Given the description of an element on the screen output the (x, y) to click on. 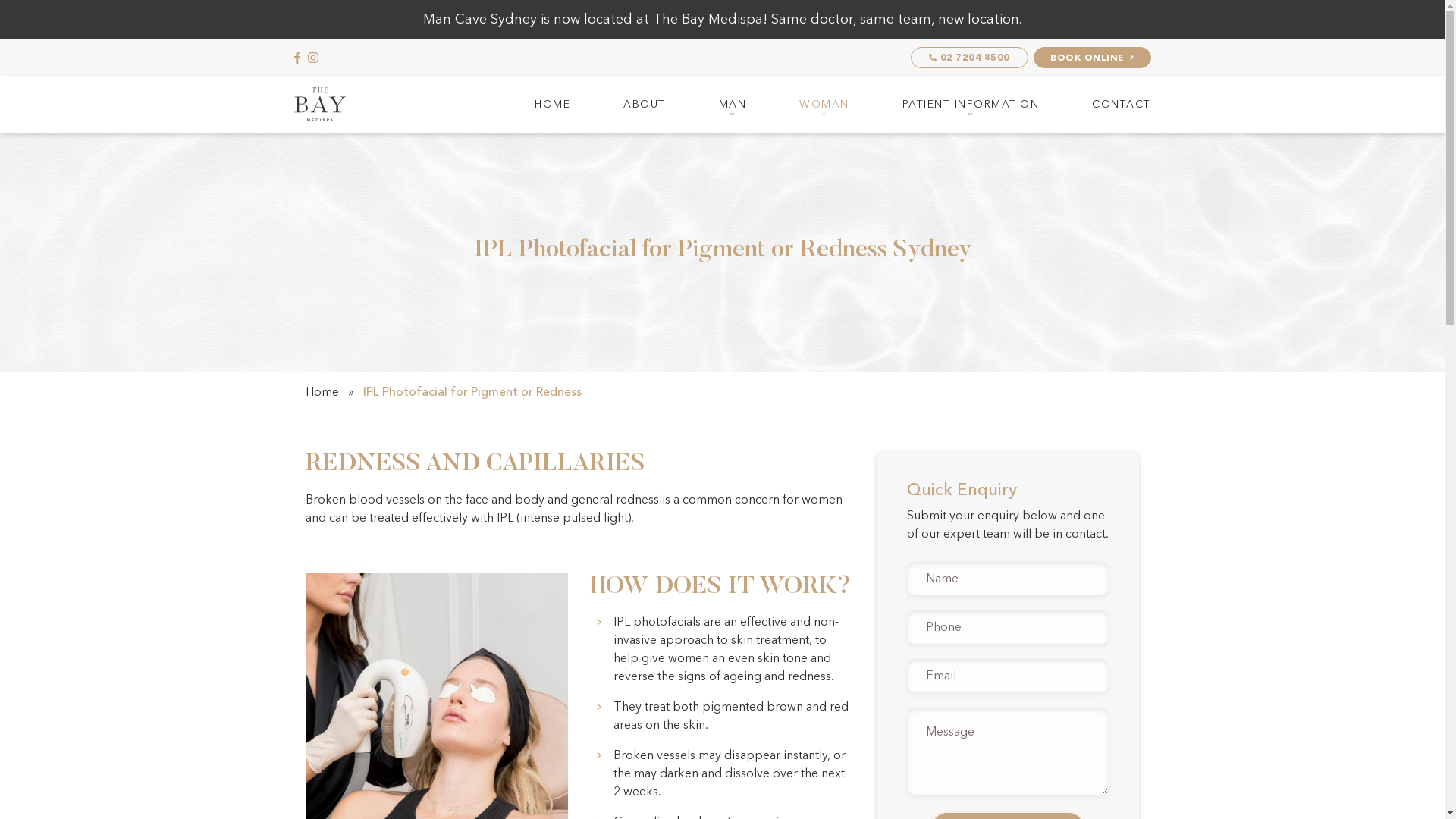
MAN Element type: text (731, 103)
CONTACT Element type: text (1108, 103)
WOMAN Element type: text (823, 103)
BOOK ONLINE Element type: text (1091, 57)
HOME Element type: text (552, 103)
Home Element type: text (321, 391)
02 7204 8500 Element type: text (968, 57)
ABOUT Element type: text (644, 103)
PATIENT INFORMATION Element type: text (970, 103)
